Given the description of an element on the screen output the (x, y) to click on. 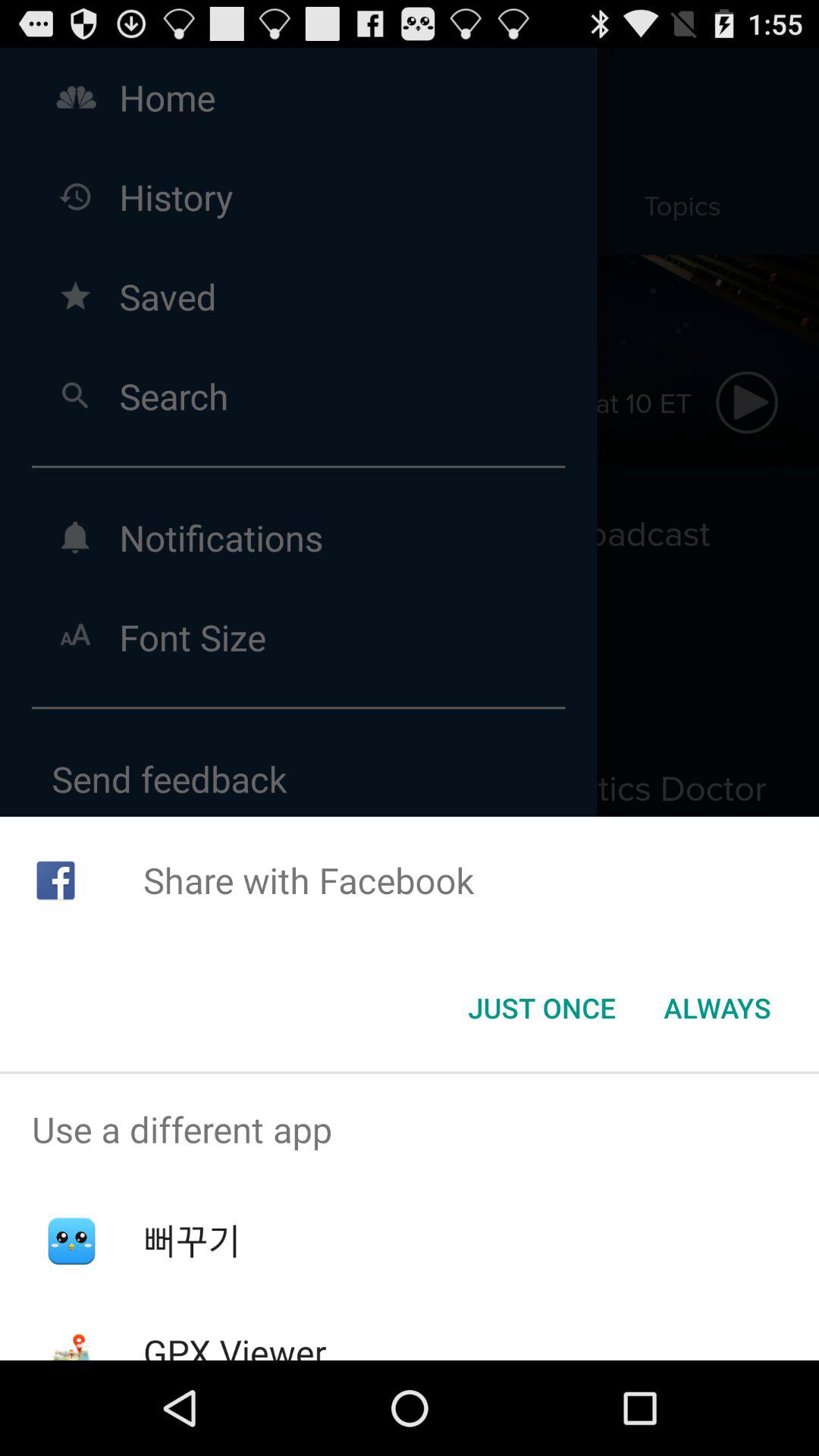
turn off the use a different icon (409, 1129)
